Given the description of an element on the screen output the (x, y) to click on. 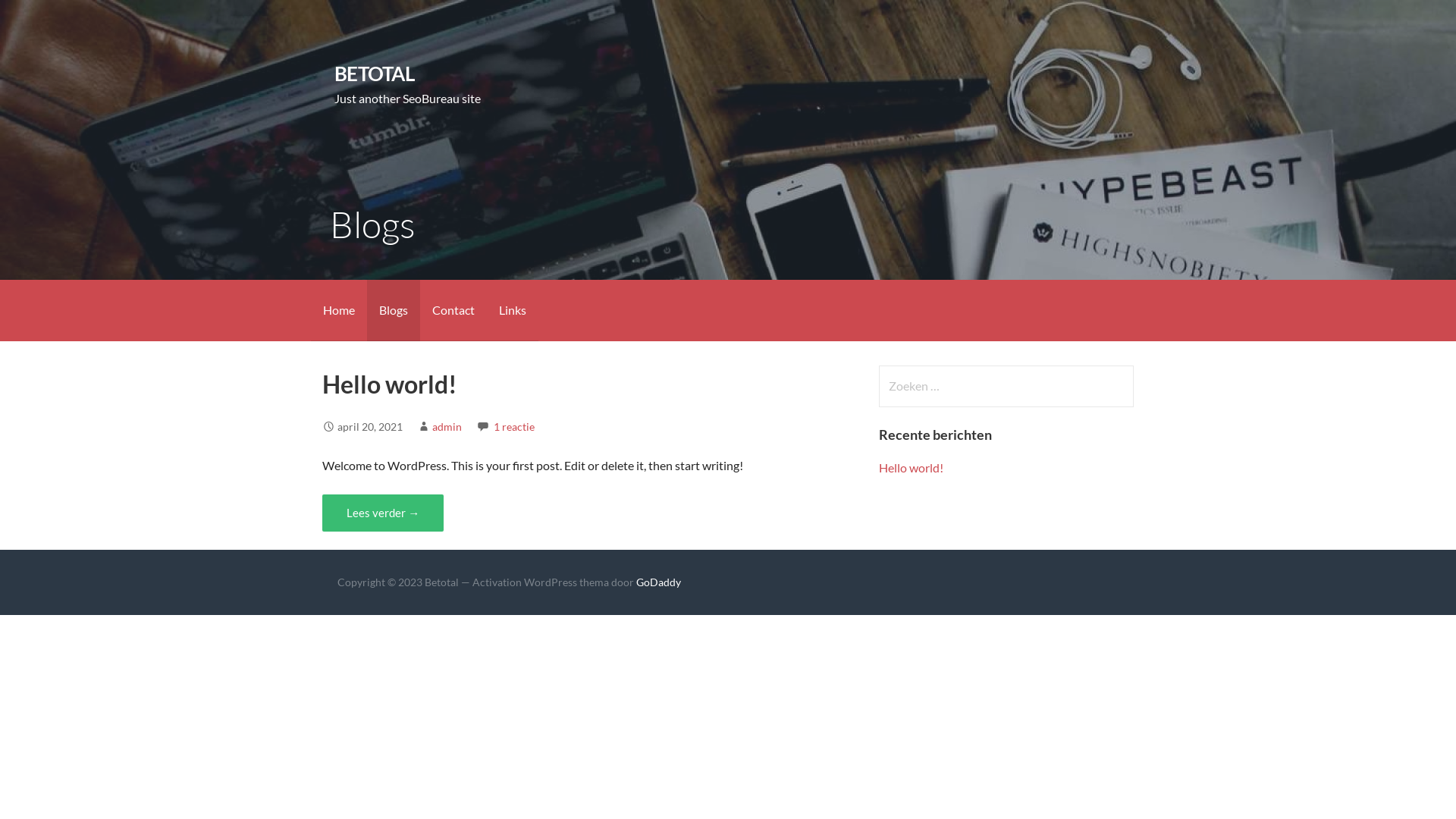
Zoeken Element type: text (42, 18)
Home Element type: text (338, 310)
Links Element type: text (512, 310)
Contact Element type: text (453, 310)
1 reactie Element type: text (513, 426)
Blogs Element type: text (393, 310)
Hello world! Element type: text (389, 383)
GoDaddy Element type: text (658, 581)
admin Element type: text (446, 426)
Hello world! Element type: text (910, 467)
BETOTAL Element type: text (374, 73)
